Given the description of an element on the screen output the (x, y) to click on. 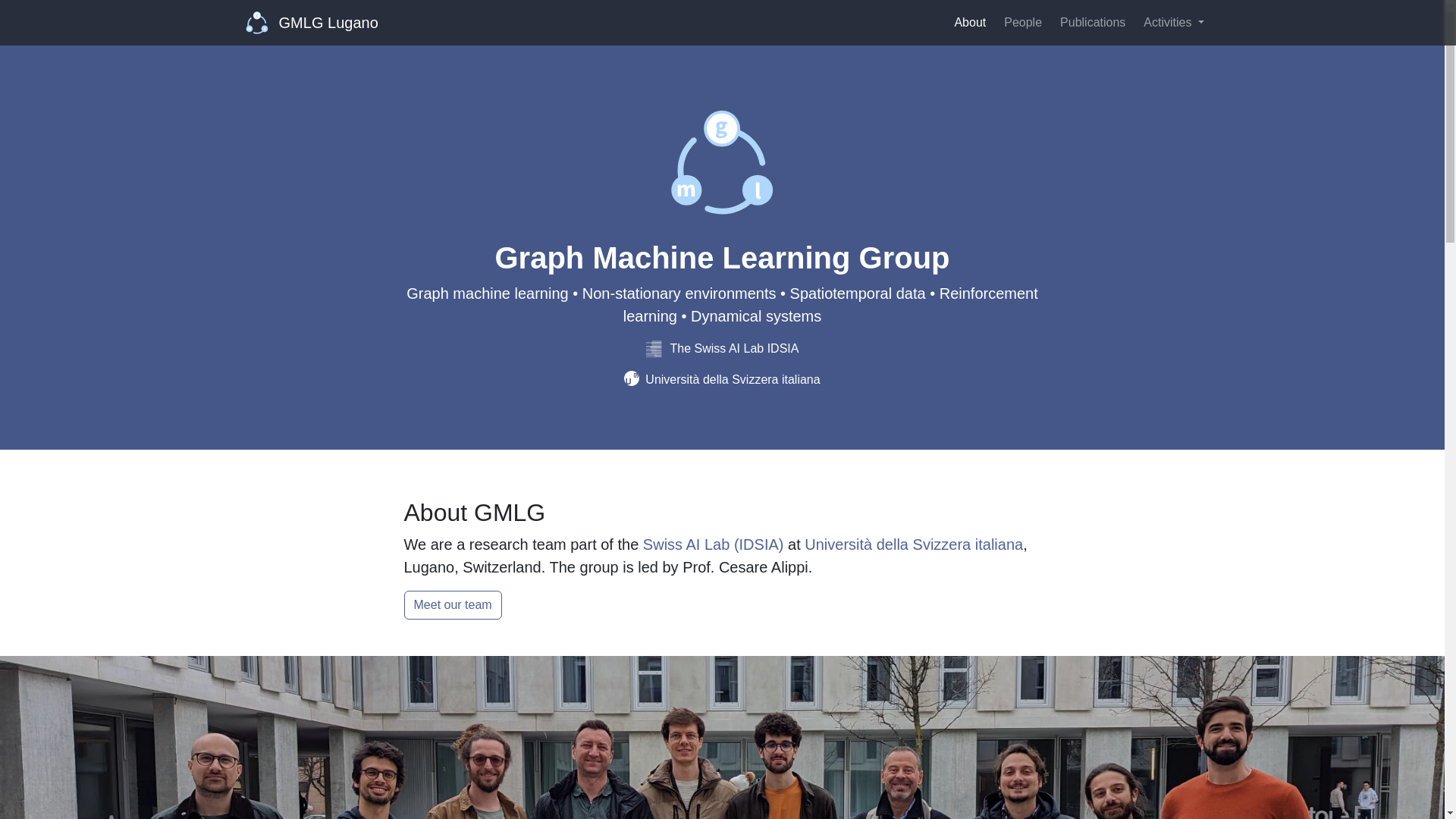
Activities (1173, 22)
Publications (1092, 22)
About (969, 22)
People (1022, 22)
Meet our team (451, 604)
The Swiss AI Lab IDSIA (722, 348)
GMLG Lugano (312, 22)
